Given the description of an element on the screen output the (x, y) to click on. 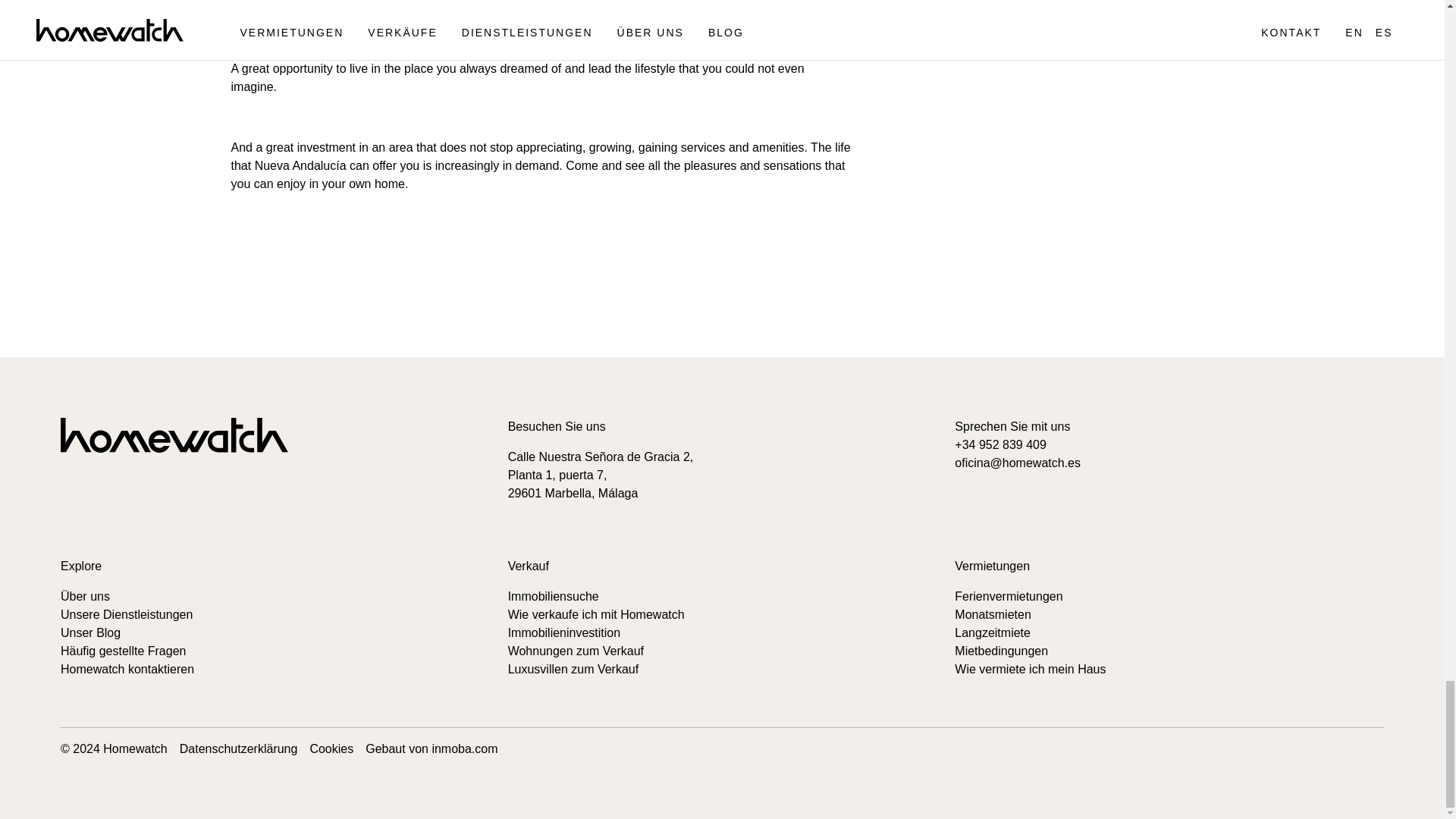
Blog (90, 632)
Ferienvermietungen (1008, 595)
Monatsmieten (992, 614)
FAQ (123, 650)
Immobilieninvestition (564, 632)
Twitter (166, 498)
Wie verkaufe ich mit Homewatch (596, 614)
Linkedin (132, 497)
Homewatch kontaktieren (127, 668)
Langzeitmiete (992, 632)
